Given the description of an element on the screen output the (x, y) to click on. 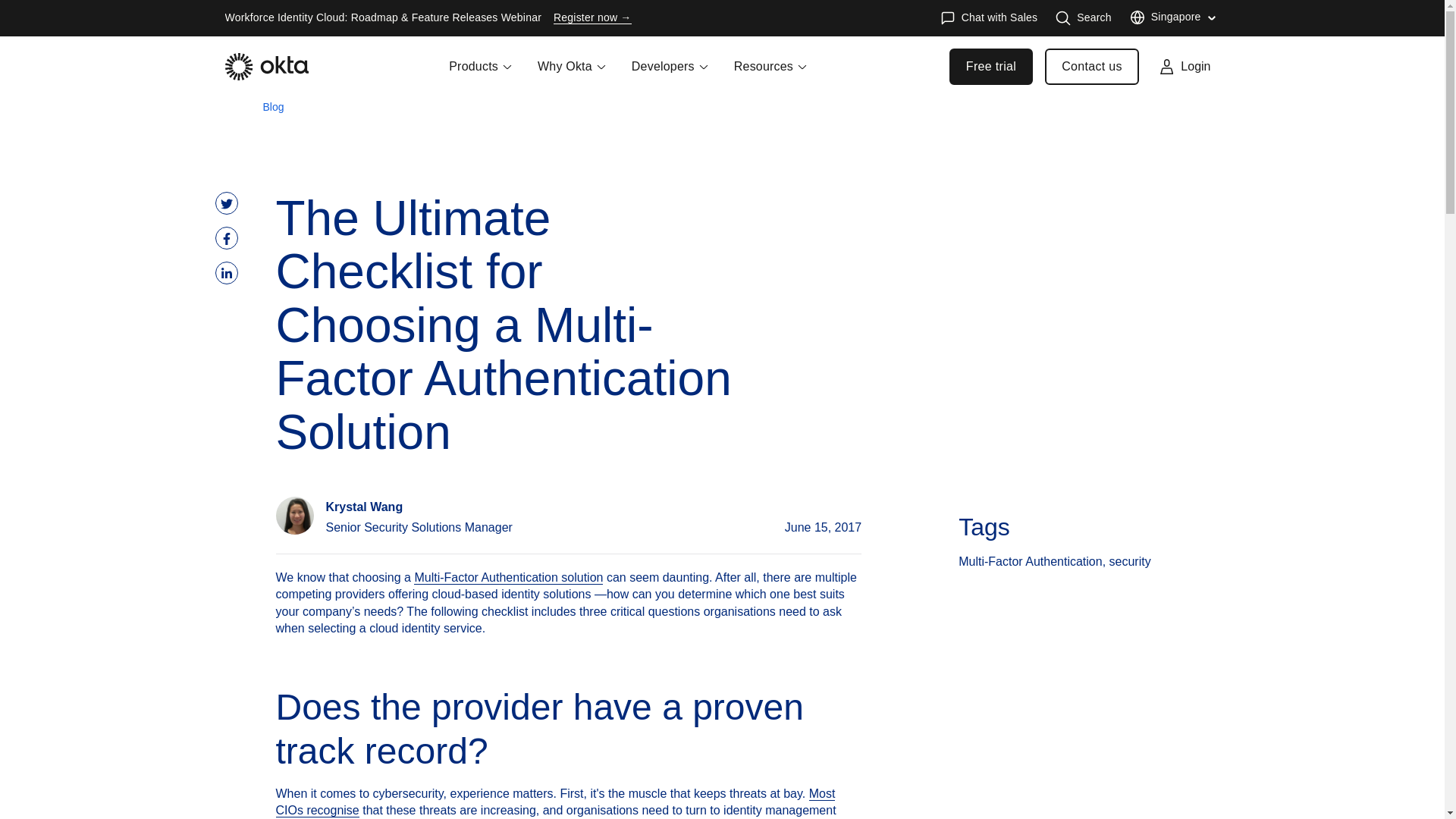
Register now (592, 17)
Search (1083, 18)
Chat with Sales (988, 18)
Why Okta (572, 76)
Products (480, 76)
